Given the description of an element on the screen output the (x, y) to click on. 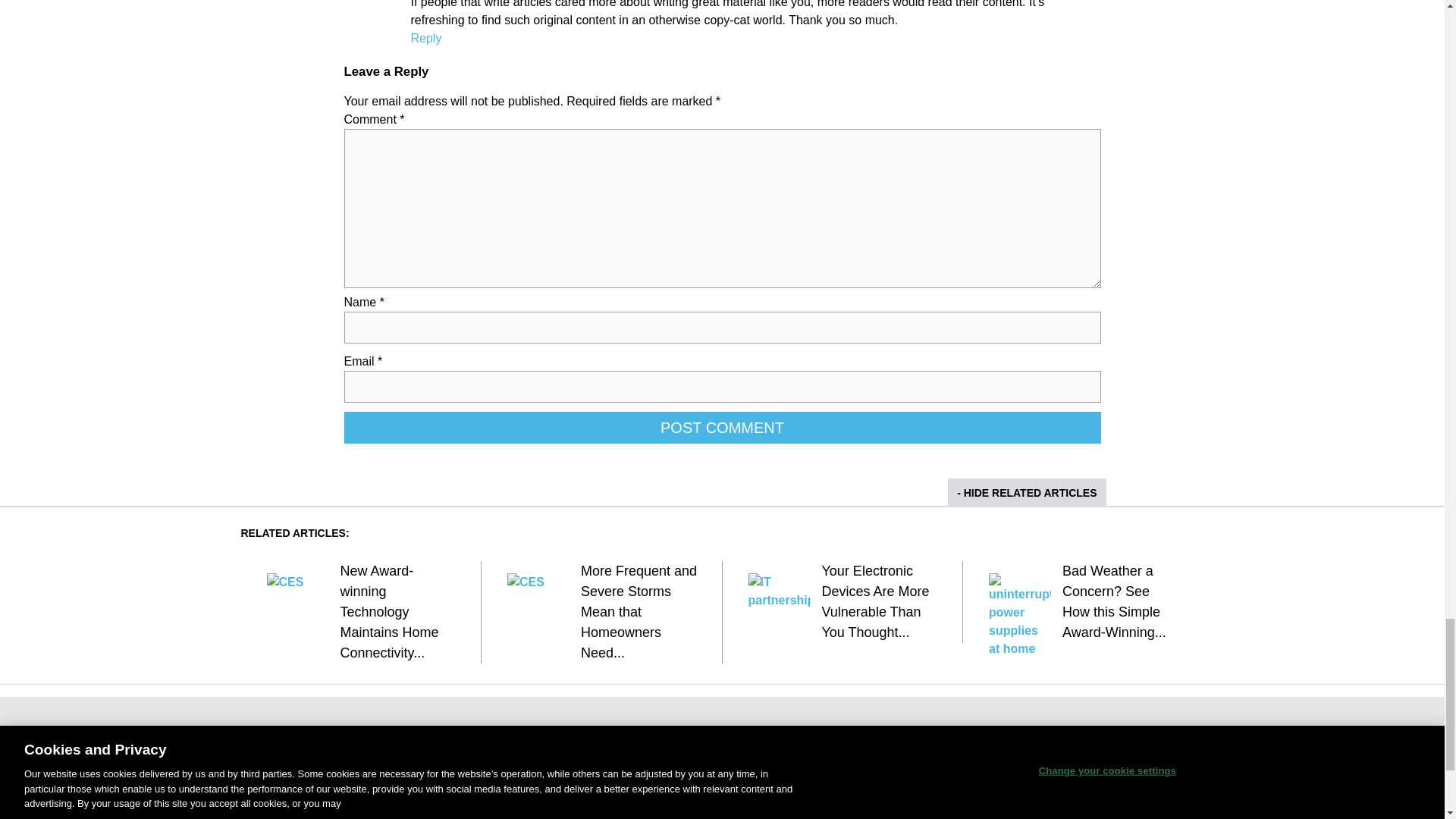
Investor Relations (673, 783)
About APC (659, 760)
Careers (653, 805)
Post Comment (721, 427)
